Given the description of an element on the screen output the (x, y) to click on. 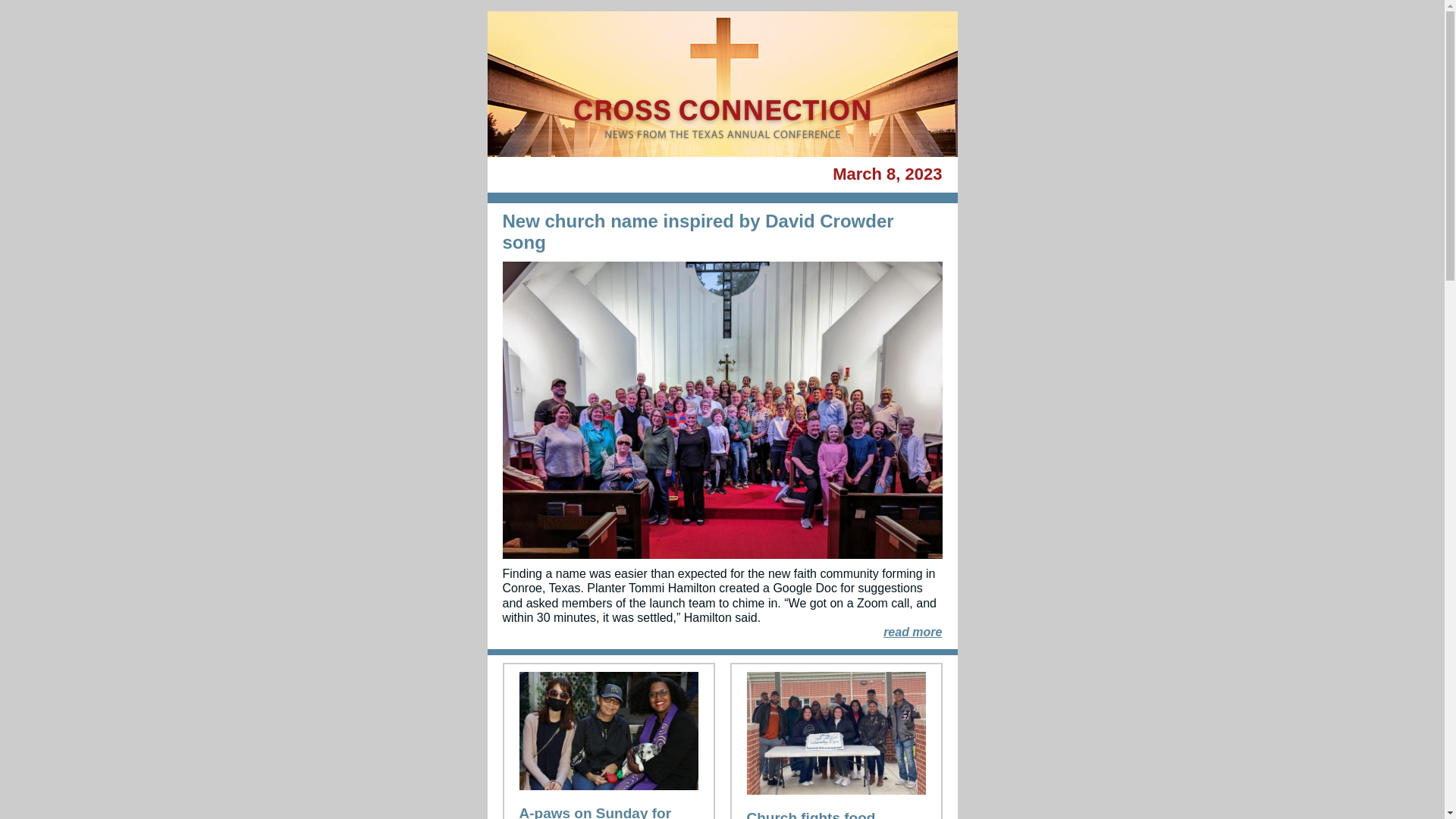
New church name inspired by David Crowder song (697, 231)
A-paws on Sunday for Blessing of the Animals (599, 812)
Church fights food insecurity with 36K free meals (826, 814)
read more (912, 631)
